Given the description of an element on the screen output the (x, y) to click on. 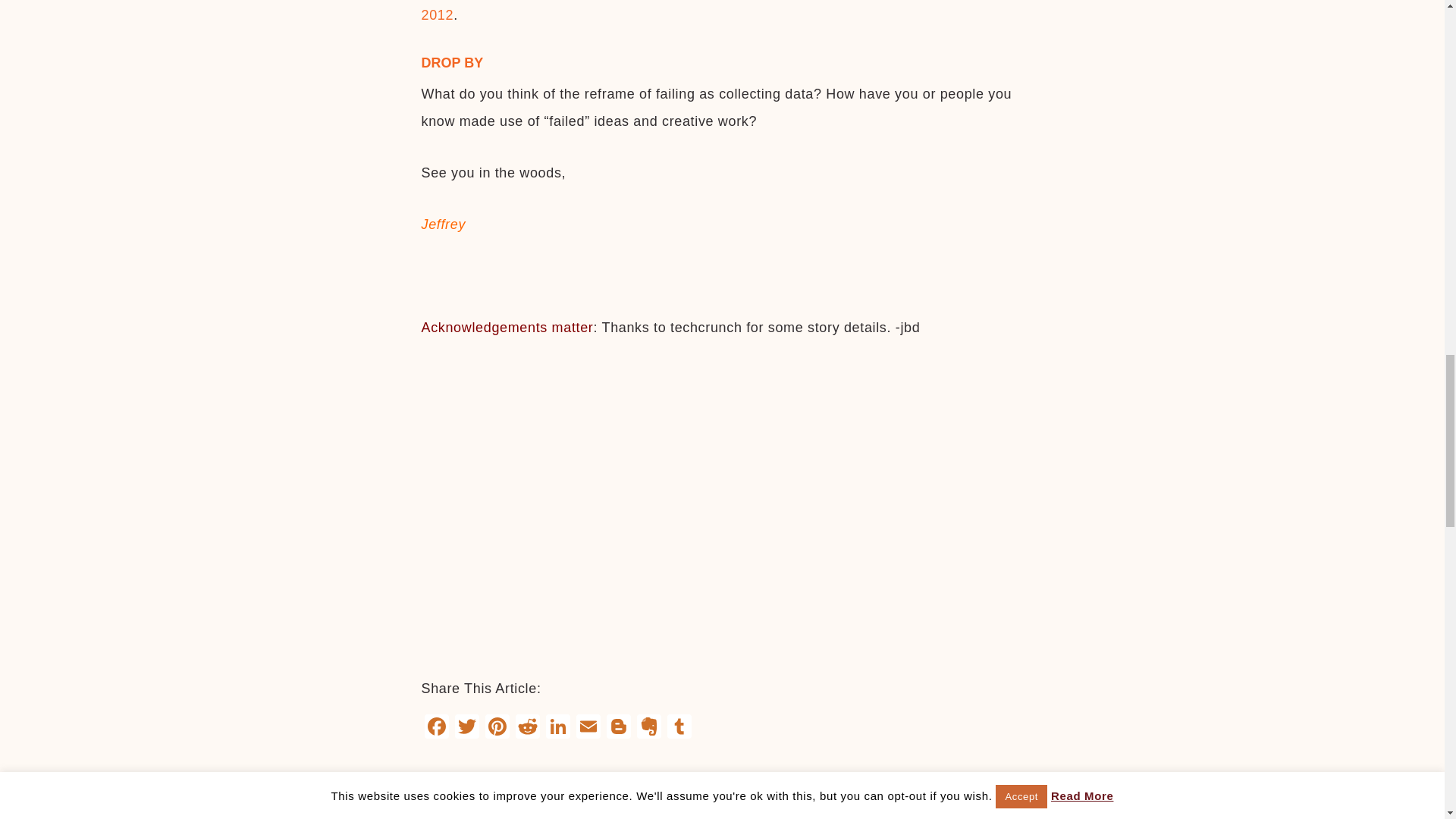
LinkedIn (558, 728)
Evernote (648, 728)
Pinterest (496, 728)
Evernote (648, 728)
Twitter (466, 728)
Pinterest (496, 728)
Tumblr (678, 728)
Twitter (466, 728)
Tumblr (678, 728)
Email (588, 728)
Email (588, 728)
LinkedIn (558, 728)
Facebook (436, 728)
Reddit (527, 728)
Facebook (436, 728)
